Given the description of an element on the screen output the (x, y) to click on. 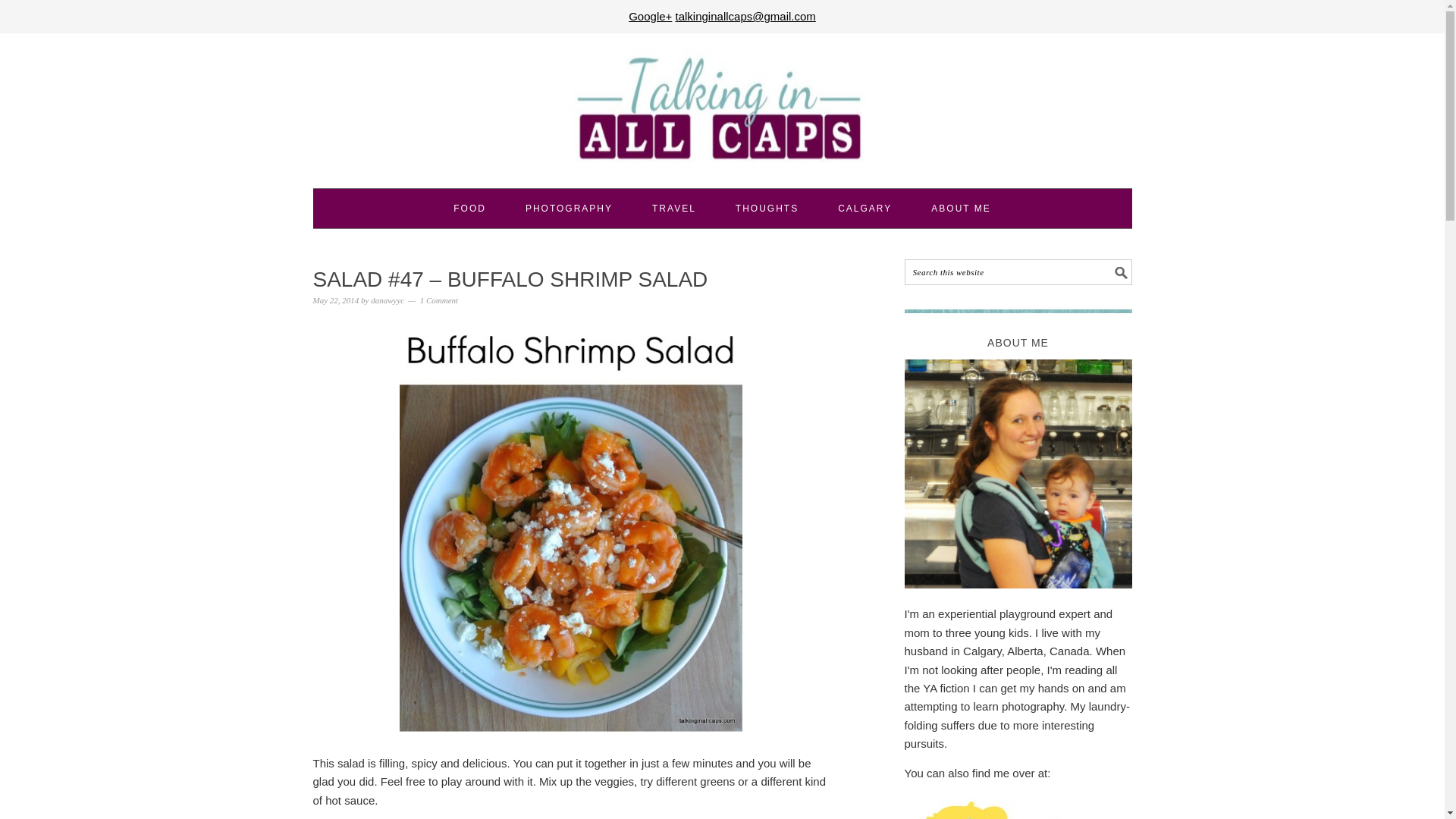
PHOTOGRAPHY (568, 208)
THOUGHTS (766, 208)
1 Comment (439, 299)
FOOD (469, 208)
ABOUT ME (960, 208)
CALGARY (864, 208)
danawyyc (387, 299)
TALKING IN ALL CAPS (722, 110)
